Given the description of an element on the screen output the (x, y) to click on. 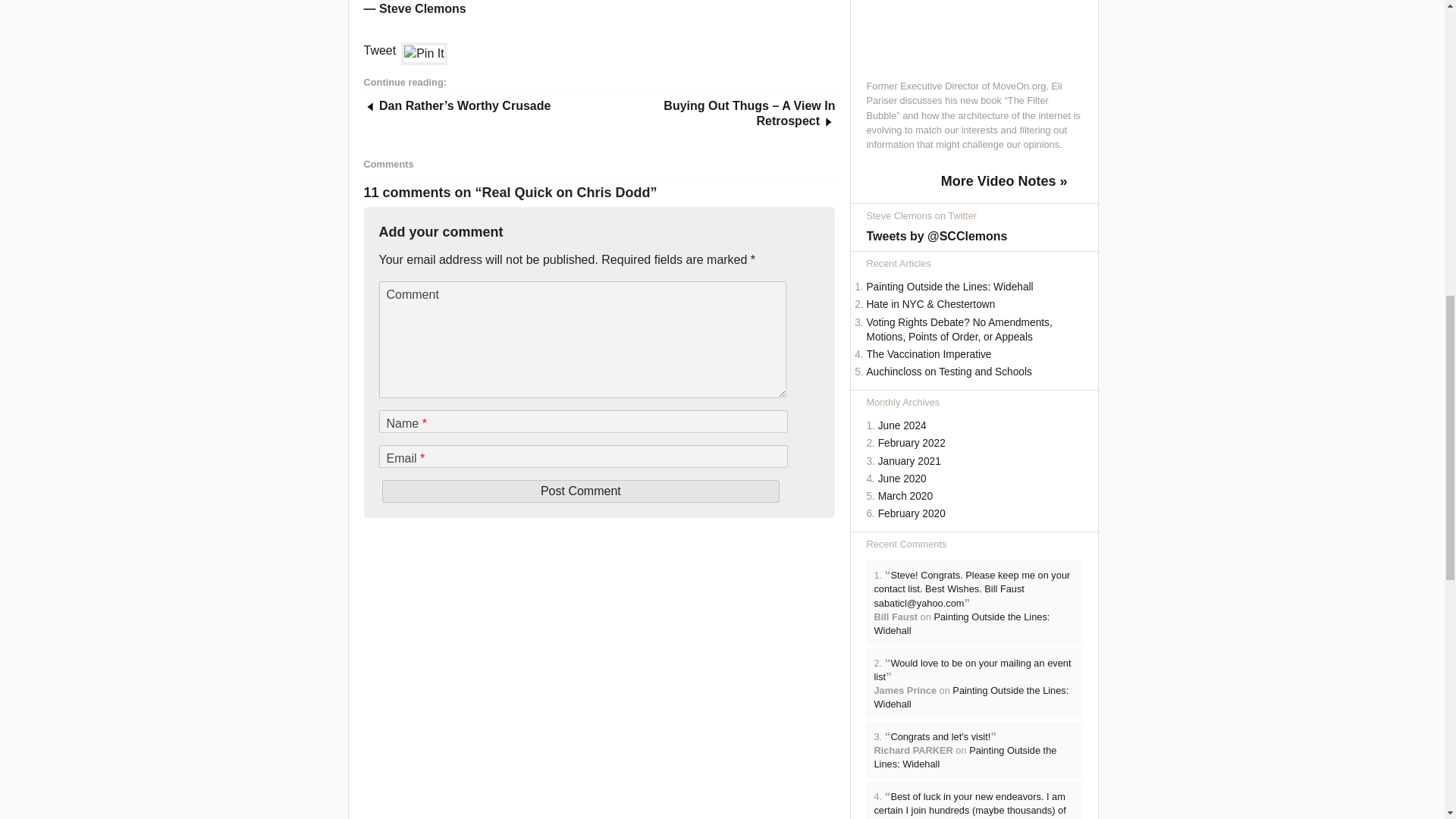
Post Comment (579, 490)
Pin It (423, 53)
Post Comment (579, 490)
Tweet (380, 50)
